Given the description of an element on the screen output the (x, y) to click on. 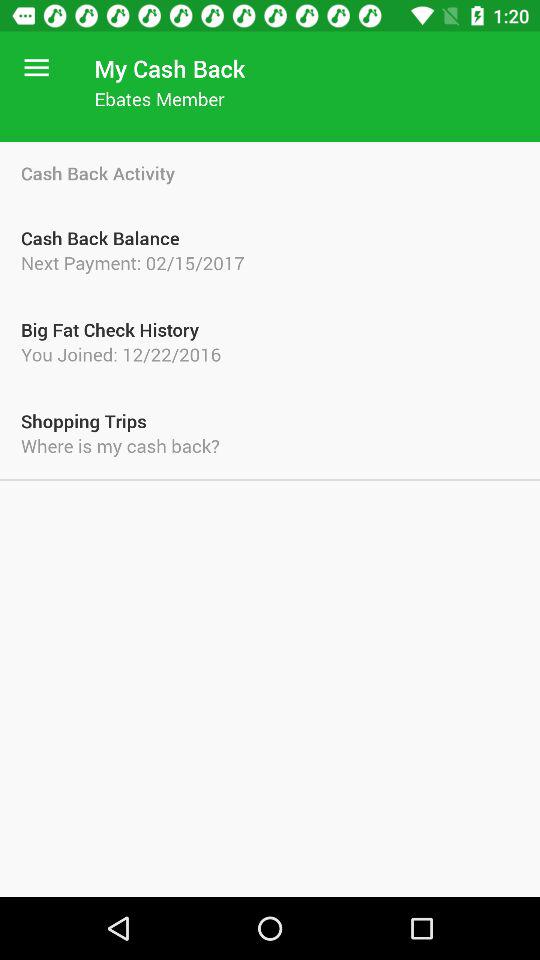
open icon below shopping trips (270, 445)
